Given the description of an element on the screen output the (x, y) to click on. 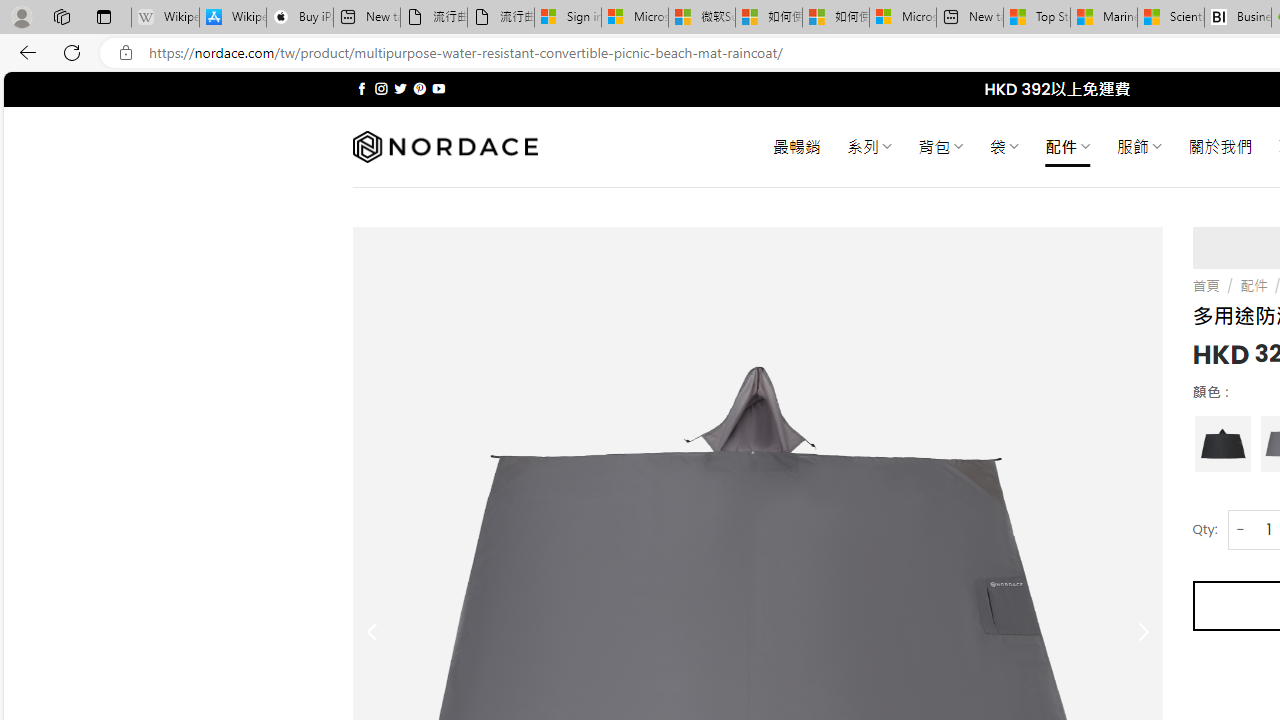
Marine life - MSN (1103, 17)
Follow on Facebook (361, 88)
- (1240, 529)
Wikipedia - Sleeping (164, 17)
Buy iPad - Apple (299, 17)
Follow on Twitter (400, 88)
